Given the description of an element on the screen output the (x, y) to click on. 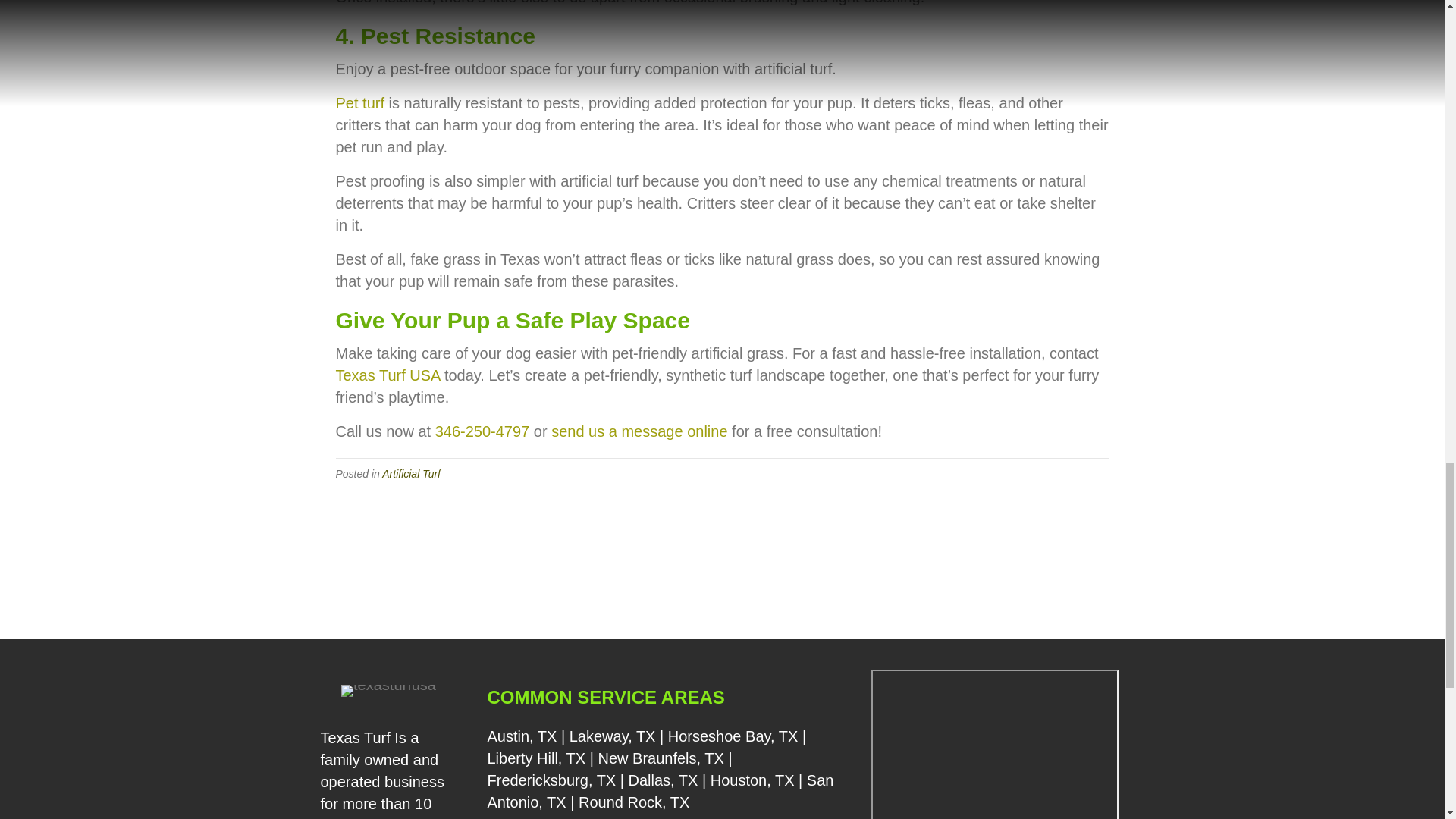
texasturfusa (387, 690)
Pet turf (359, 103)
Texas Turf USA (386, 375)
346-250-4797 (482, 431)
send us a message online (638, 431)
Artificial Turf (411, 473)
